Given the description of an element on the screen output the (x, y) to click on. 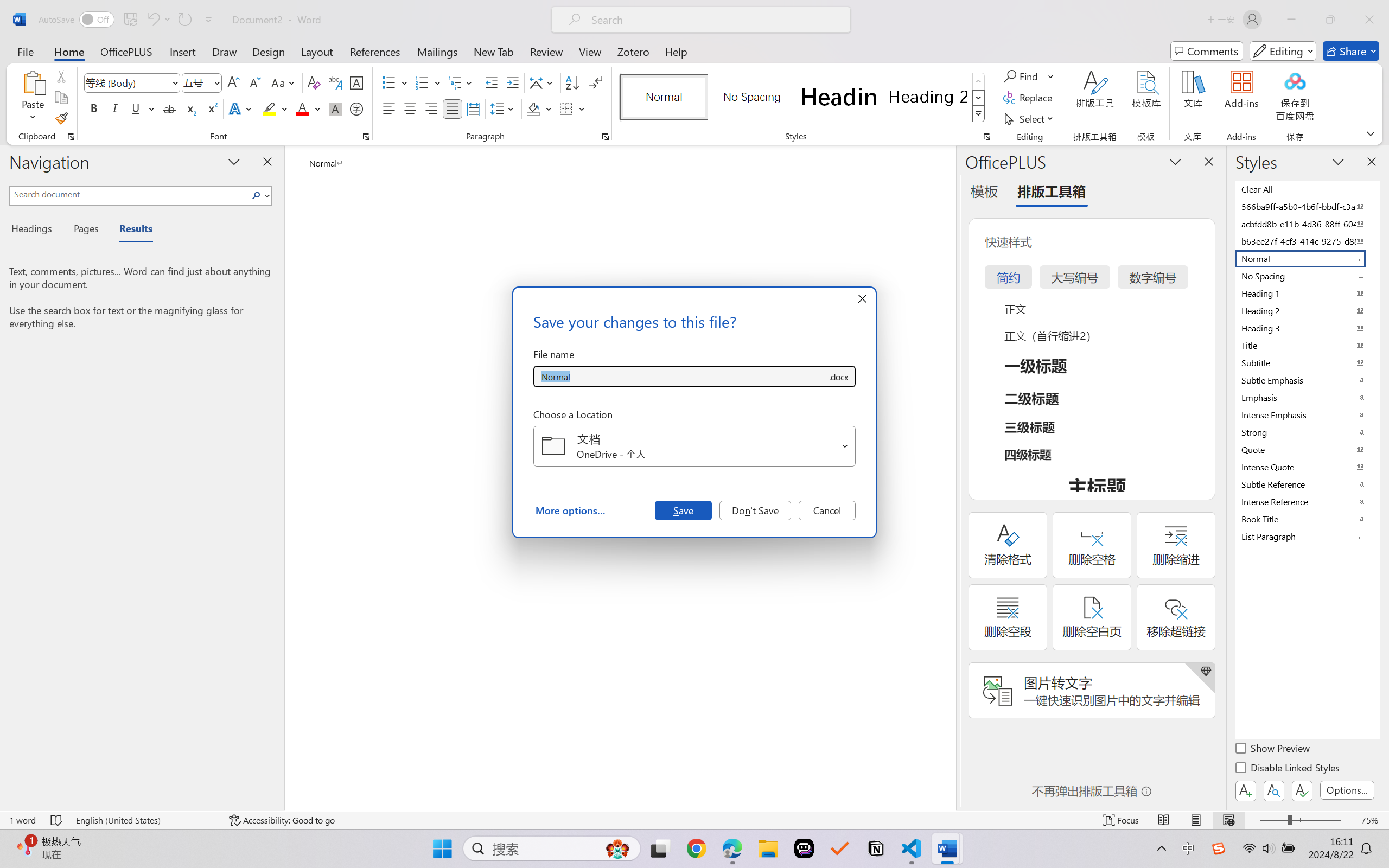
Emphasis (1306, 397)
Save as type (837, 376)
Poe (804, 848)
Quote (1306, 449)
File Tab (24, 51)
File name (680, 376)
